Given the description of an element on the screen output the (x, y) to click on. 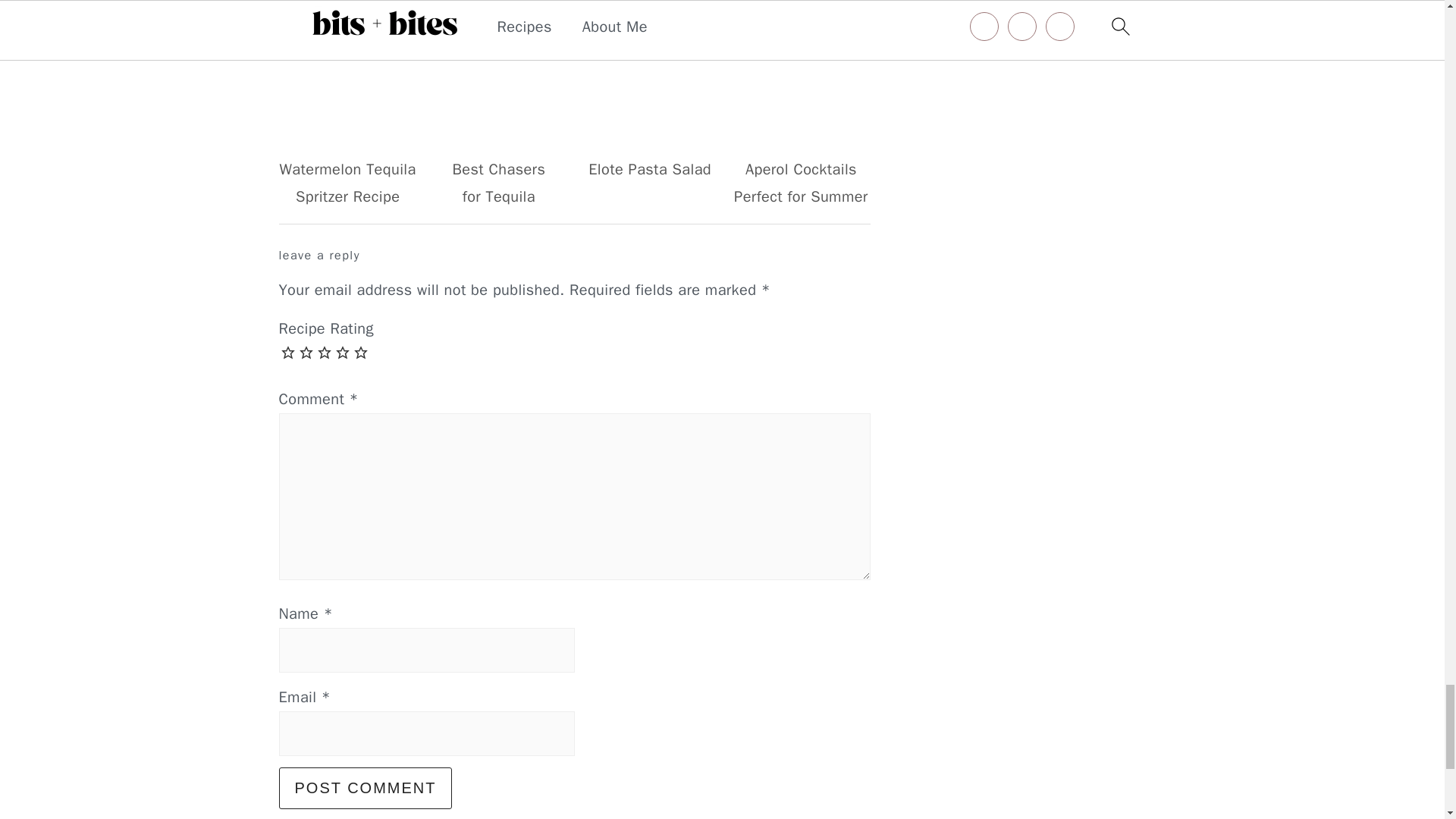
Post Comment (365, 788)
